Given the description of an element on the screen output the (x, y) to click on. 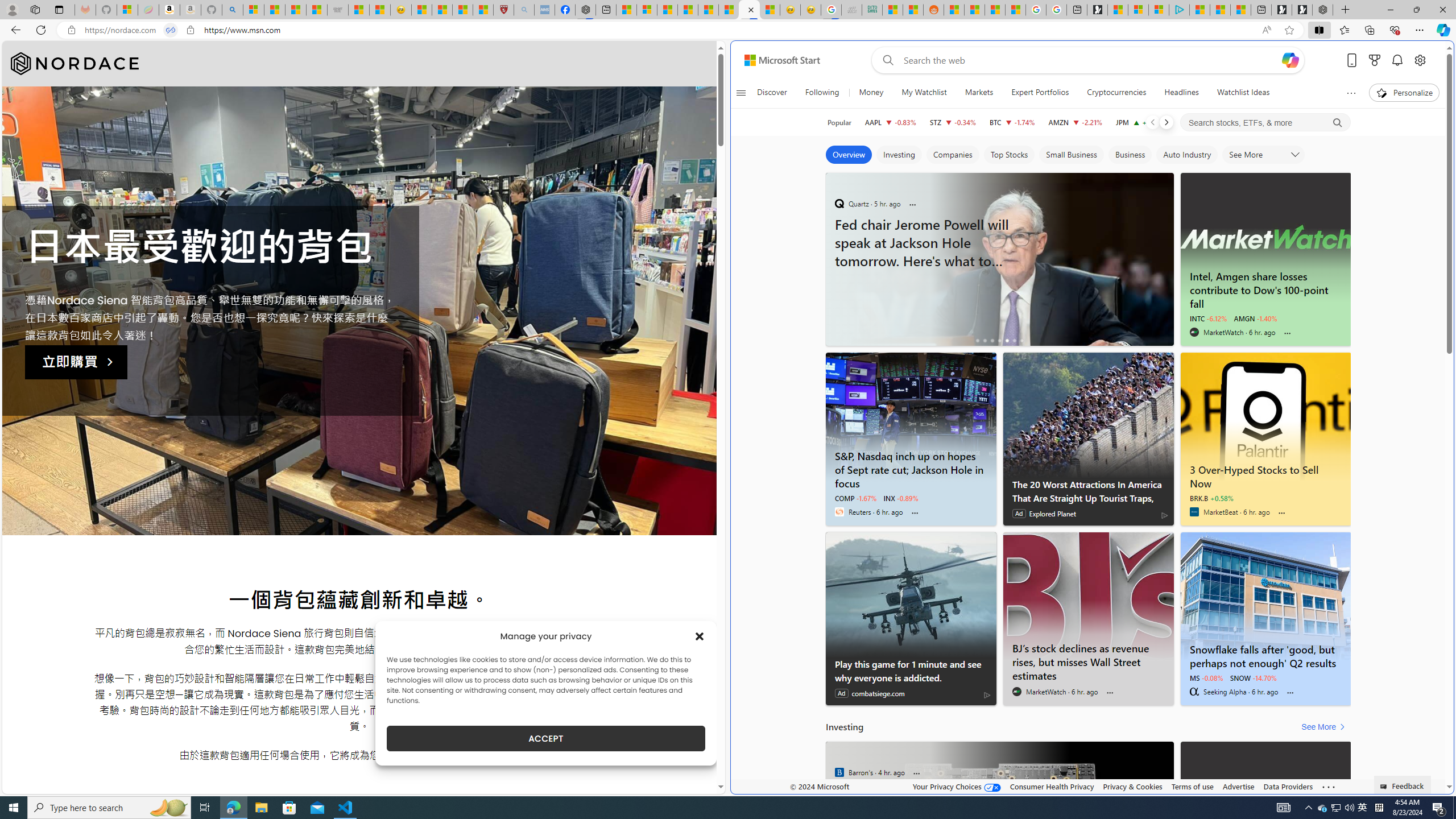
AMGN -1.40% (1254, 317)
3 Over-Hyped Stocks to Sell Now - MarketBeat (1265, 474)
Search stocks, ETFs, & more (1265, 122)
Class: oneFooter_seeMore-DS-EntryPoint1-1 (1328, 786)
Investing (898, 154)
R******* | Trusted Community Engagement and Contributions (954, 9)
